Given the description of an element on the screen output the (x, y) to click on. 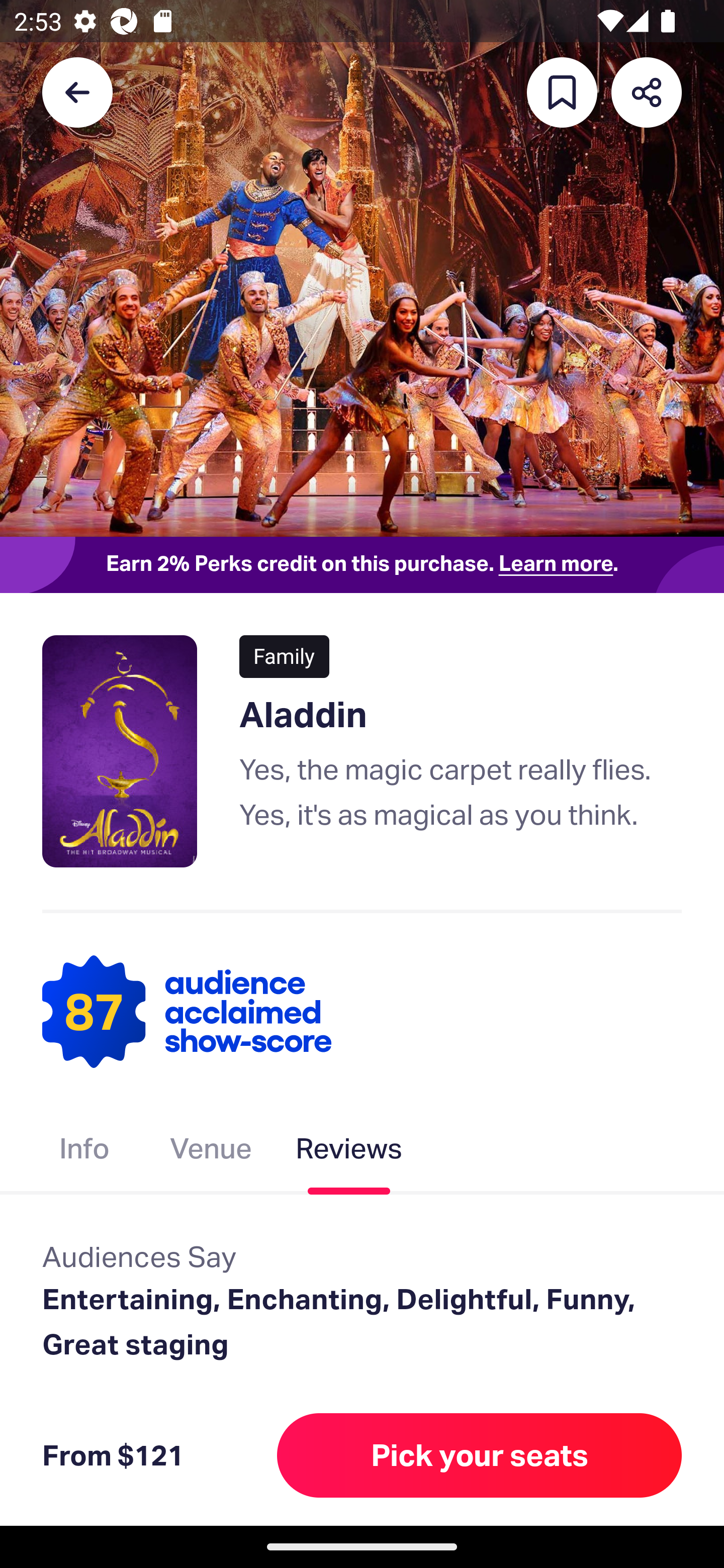
Earn 2% Perks credit on this purchase. Learn more. (362, 564)
Info (83, 1152)
Venue (210, 1152)
Pick your seats (479, 1454)
